Given the description of an element on the screen output the (x, y) to click on. 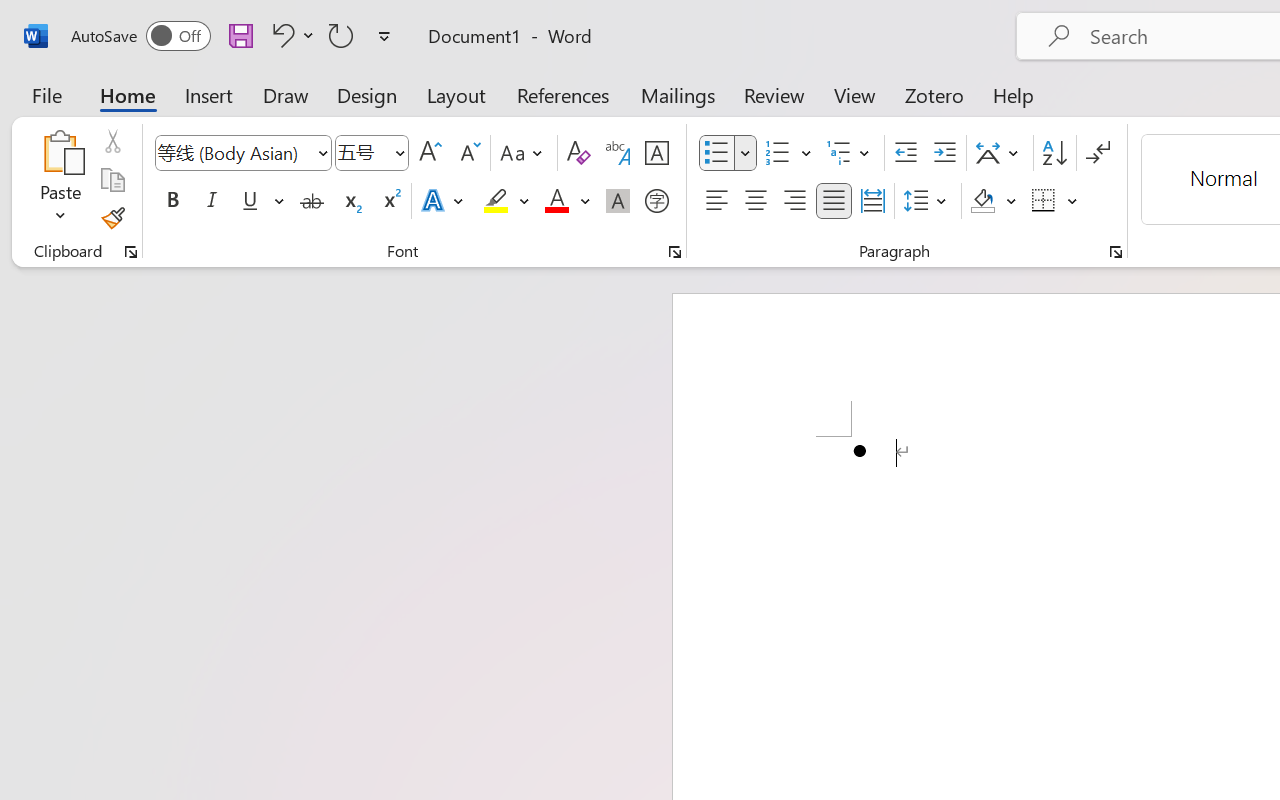
Undo Bullet Default (280, 35)
